Given the description of an element on the screen output the (x, y) to click on. 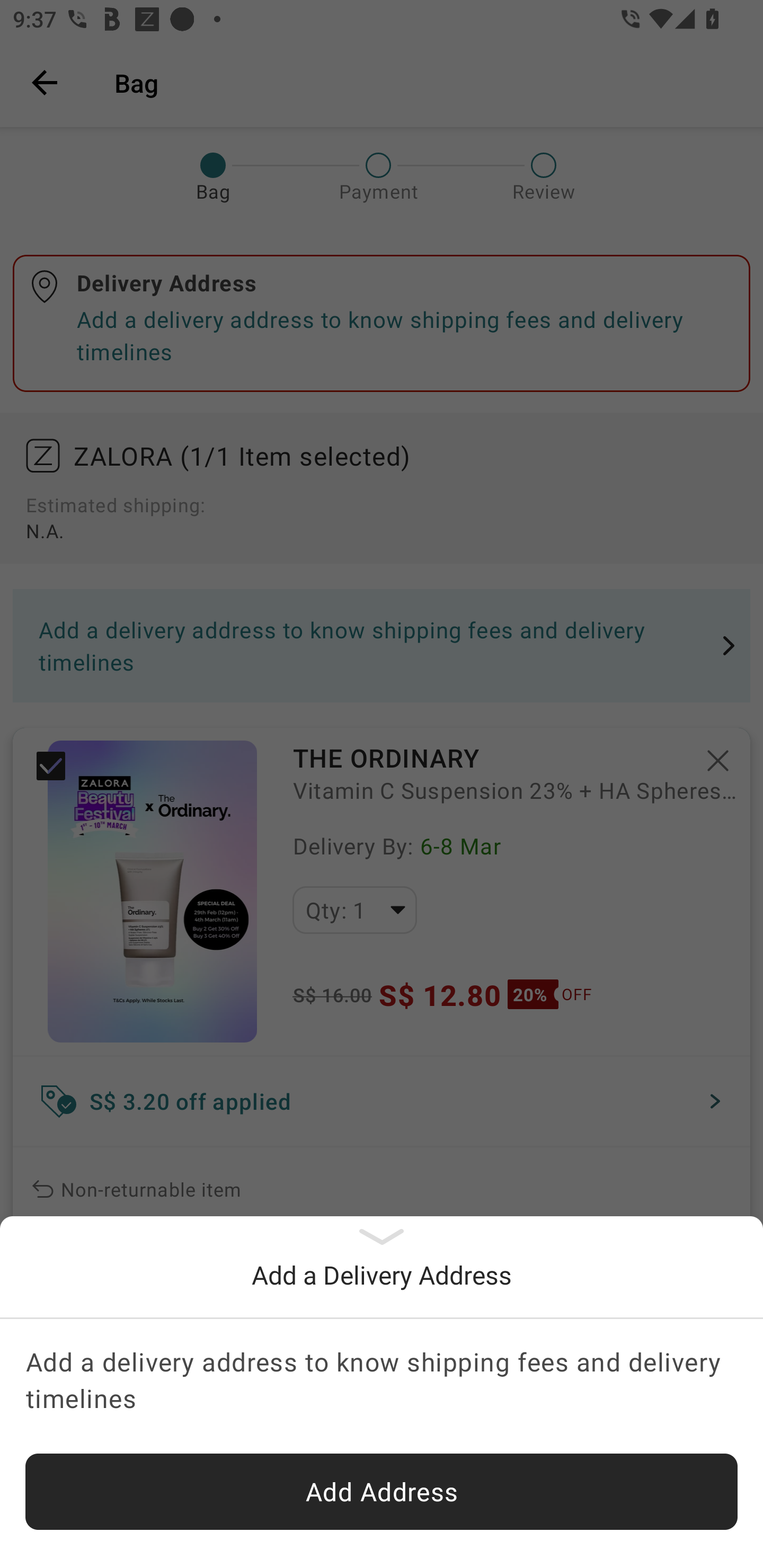
Add Address (381, 1491)
